Given the description of an element on the screen output the (x, y) to click on. 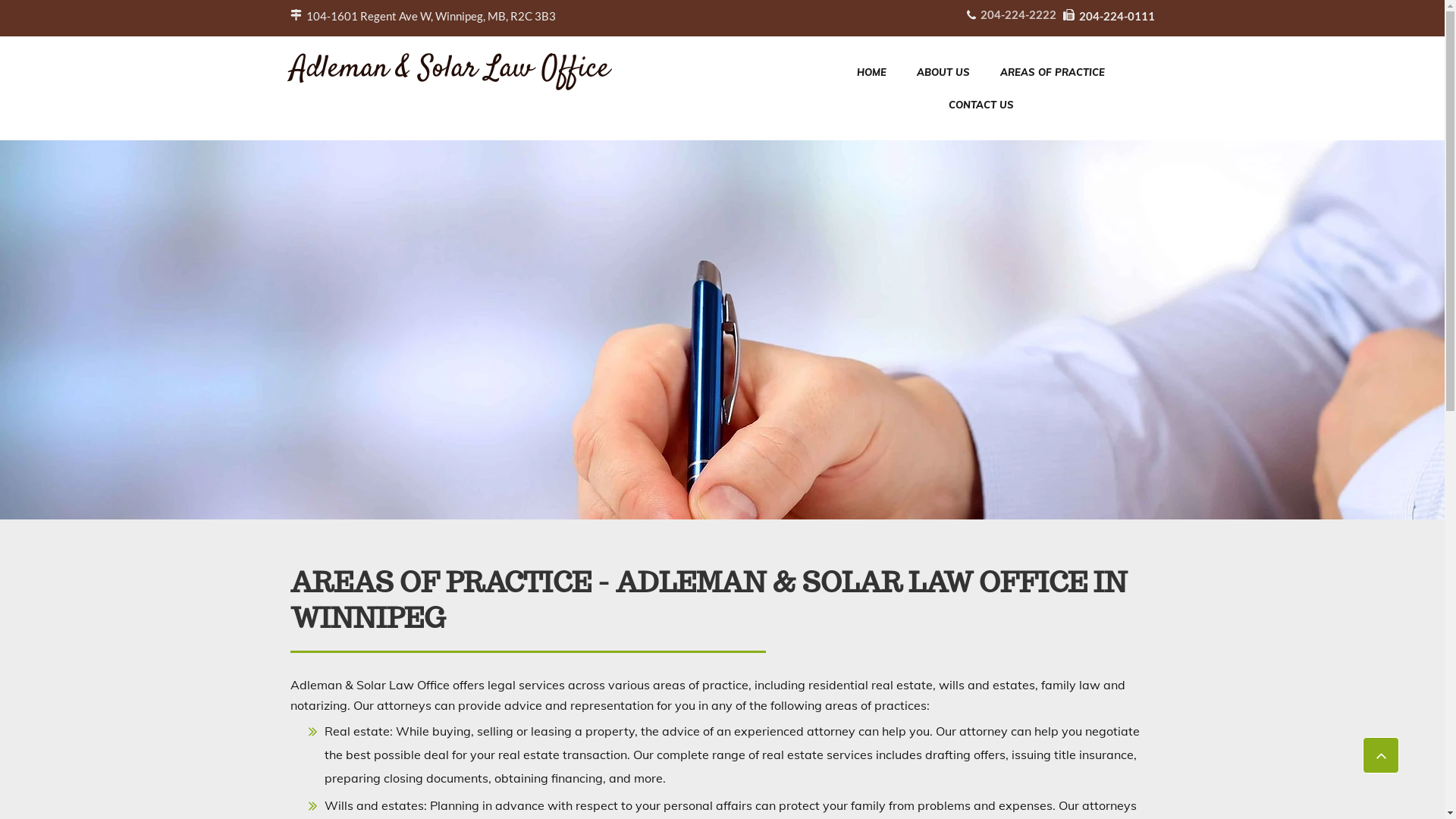
CONTACT US Element type: text (980, 103)
204-224-2222 Element type: text (1017, 16)
AREAS OF PRACTICE Element type: text (1052, 72)
ABOUT US Element type: text (943, 72)
HOME Element type: text (871, 72)
Adleman & Solar Law Office Element type: text (448, 73)
